Given the description of an element on the screen output the (x, y) to click on. 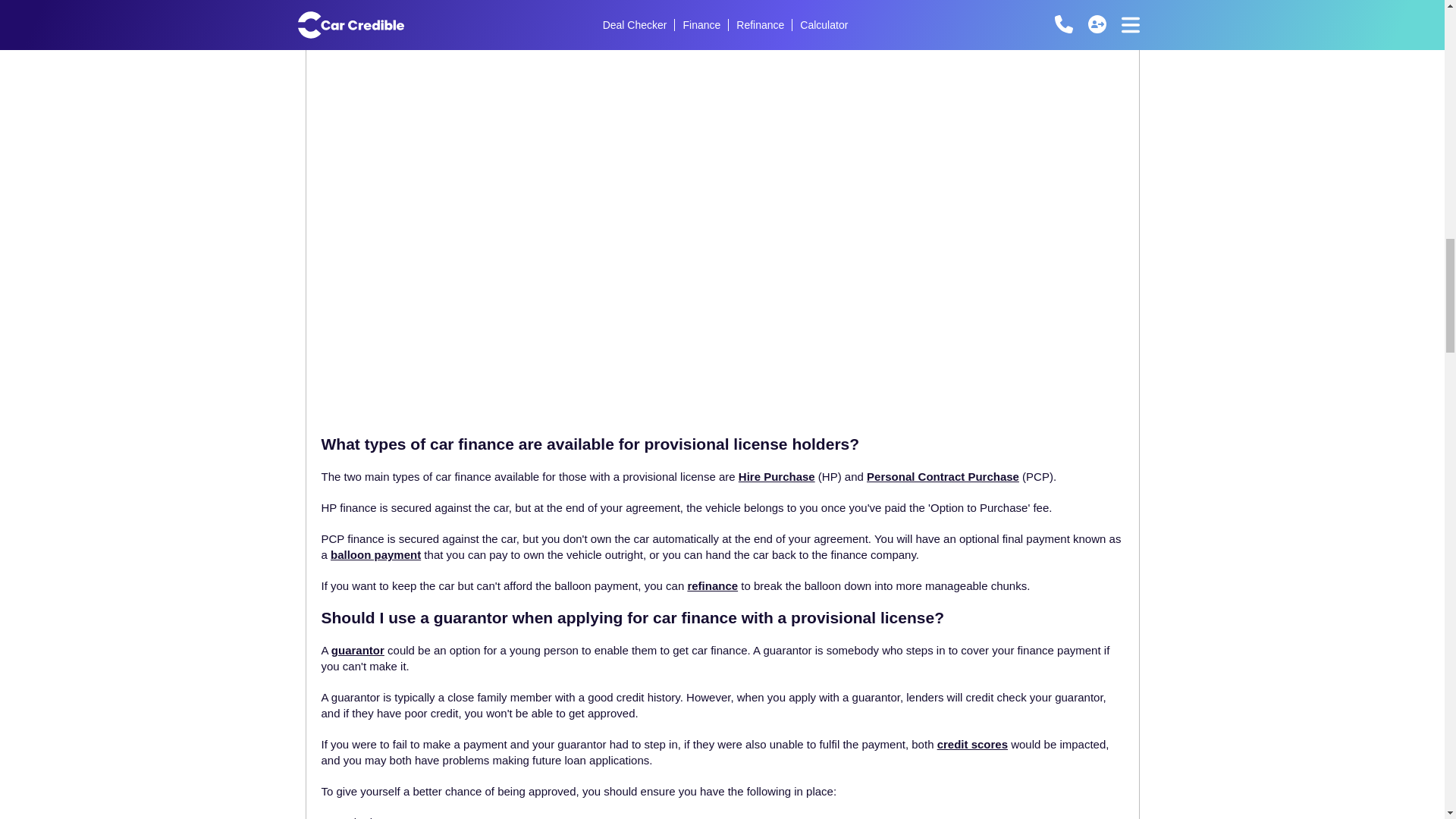
credit scores (972, 744)
refinance (712, 585)
balloon payment (375, 554)
Hire Purchase (776, 476)
Personal Contract Purchase (942, 476)
guarantor (357, 649)
